Given the description of an element on the screen output the (x, y) to click on. 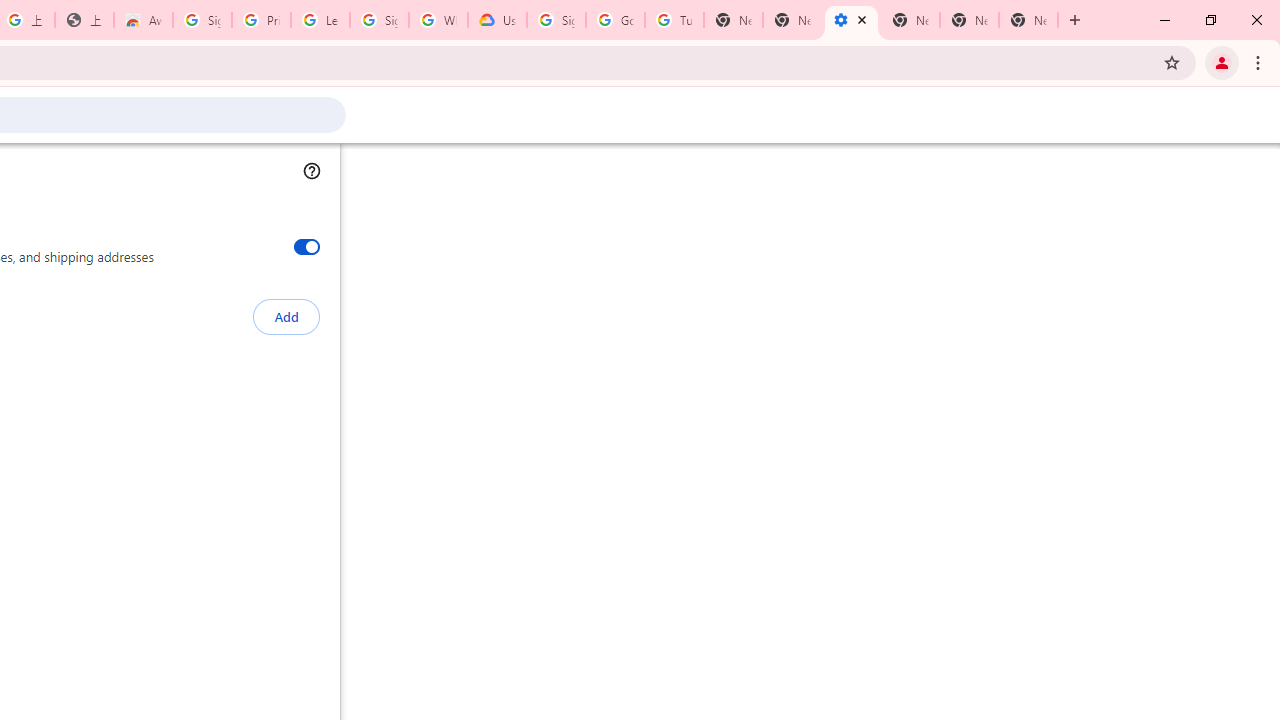
Google Account Help (615, 20)
Turn cookies on or off - Computer - Google Account Help (674, 20)
Settings - Addresses and more (850, 20)
Awesome Screen Recorder & Screenshot - Chrome Web Store (142, 20)
Sign in - Google Accounts (379, 20)
Sign in - Google Accounts (556, 20)
